Given the description of an element on the screen output the (x, y) to click on. 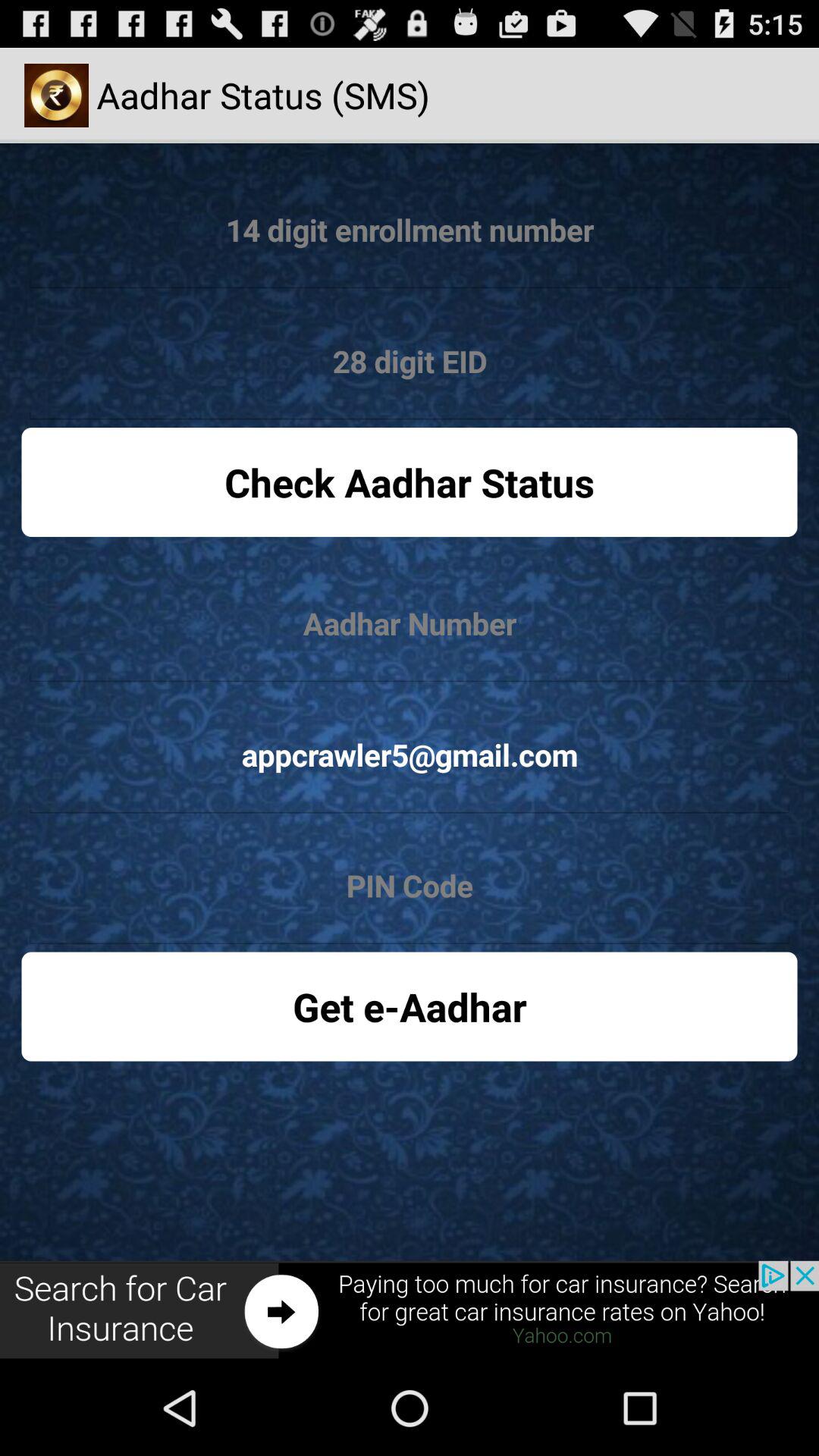
input number (409, 623)
